Given the description of an element on the screen output the (x, y) to click on. 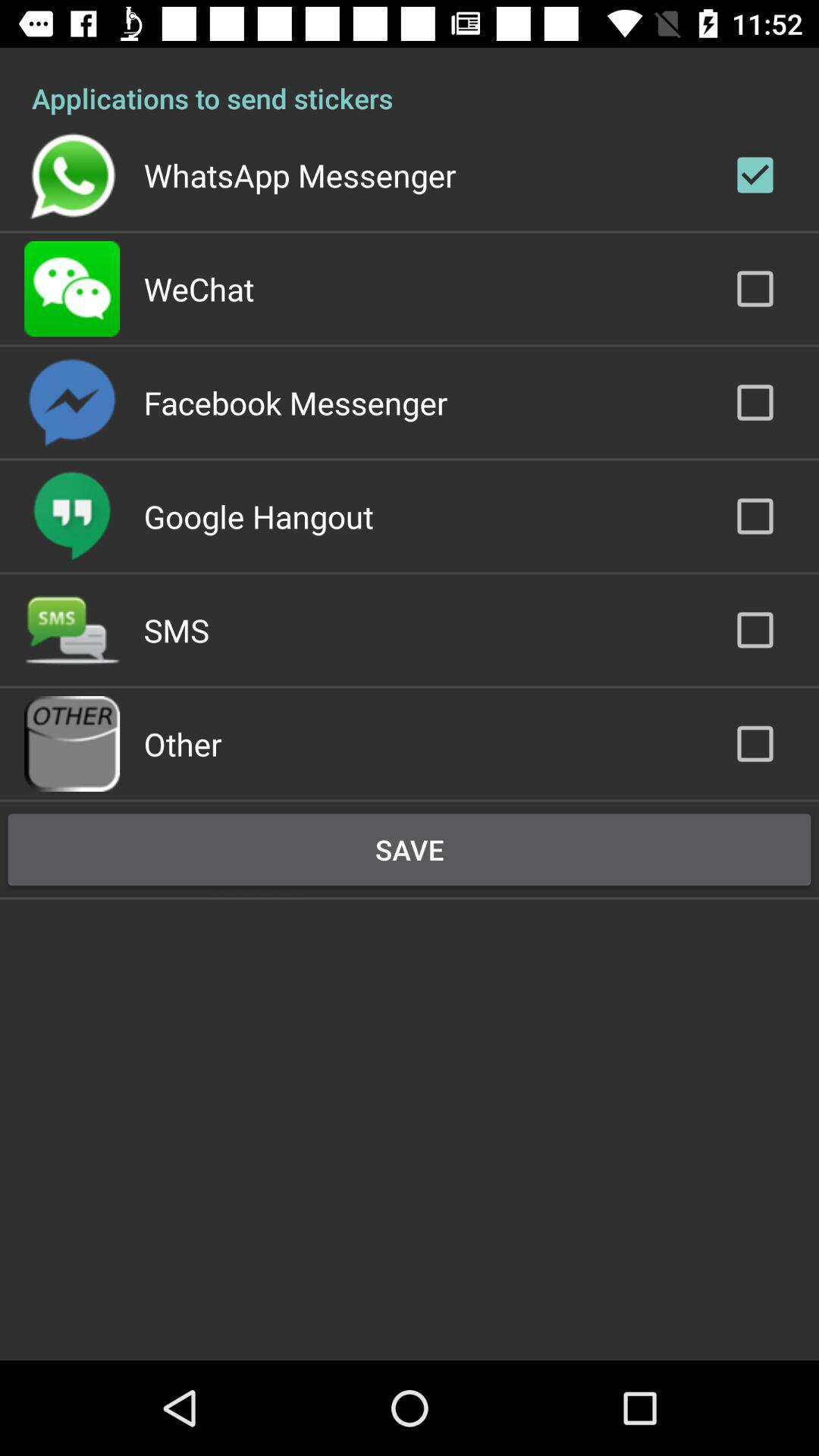
click icon above wechat (299, 174)
